Given the description of an element on the screen output the (x, y) to click on. 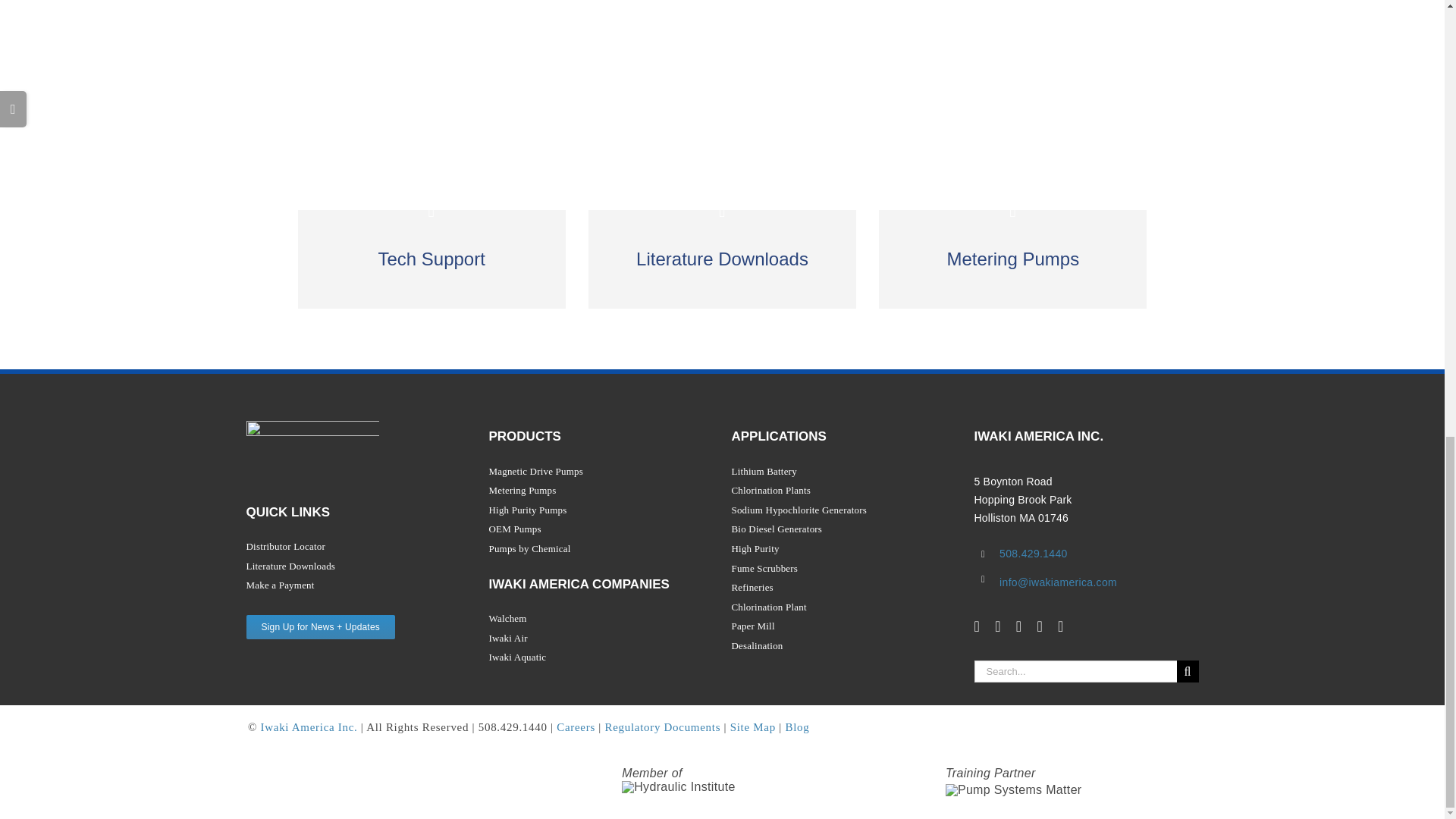
LKN Chart (312, 445)
